Given the description of an element on the screen output the (x, y) to click on. 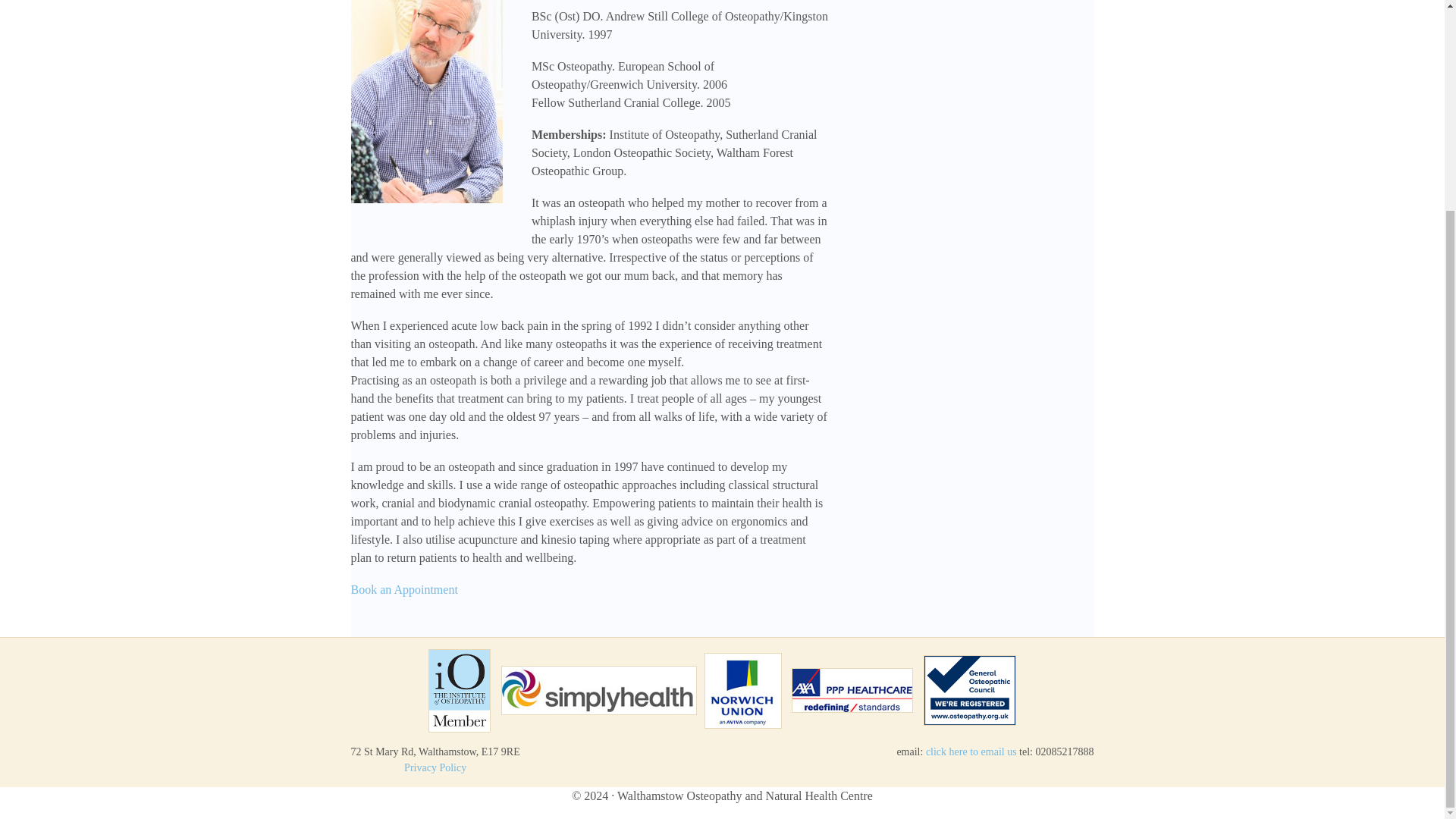
Book an Appointment (403, 589)
Privacy Policy (434, 767)
click here to email us (971, 751)
